Given the description of an element on the screen output the (x, y) to click on. 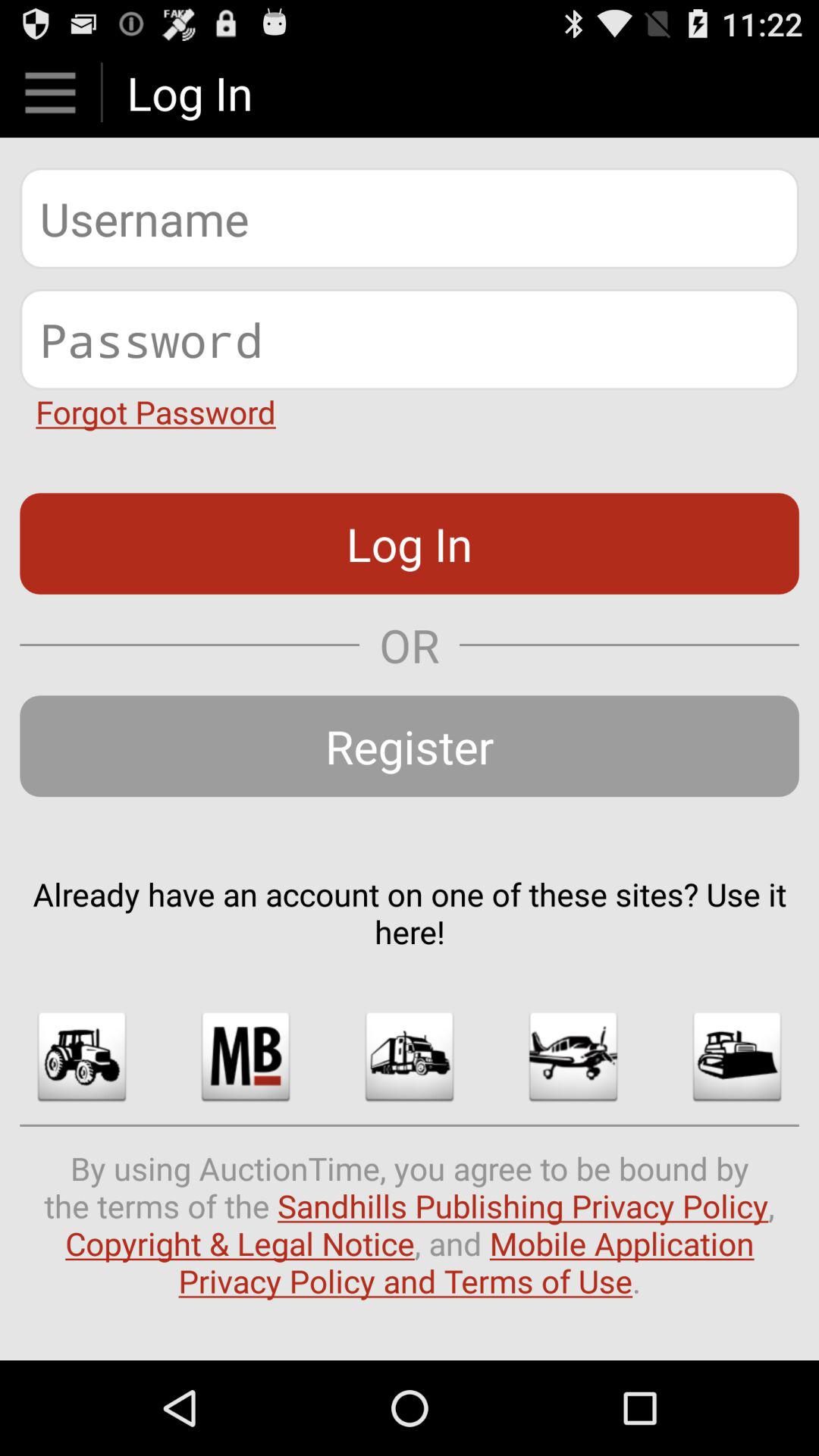
flip until by using auctiontime app (409, 1224)
